Given the description of an element on the screen output the (x, y) to click on. 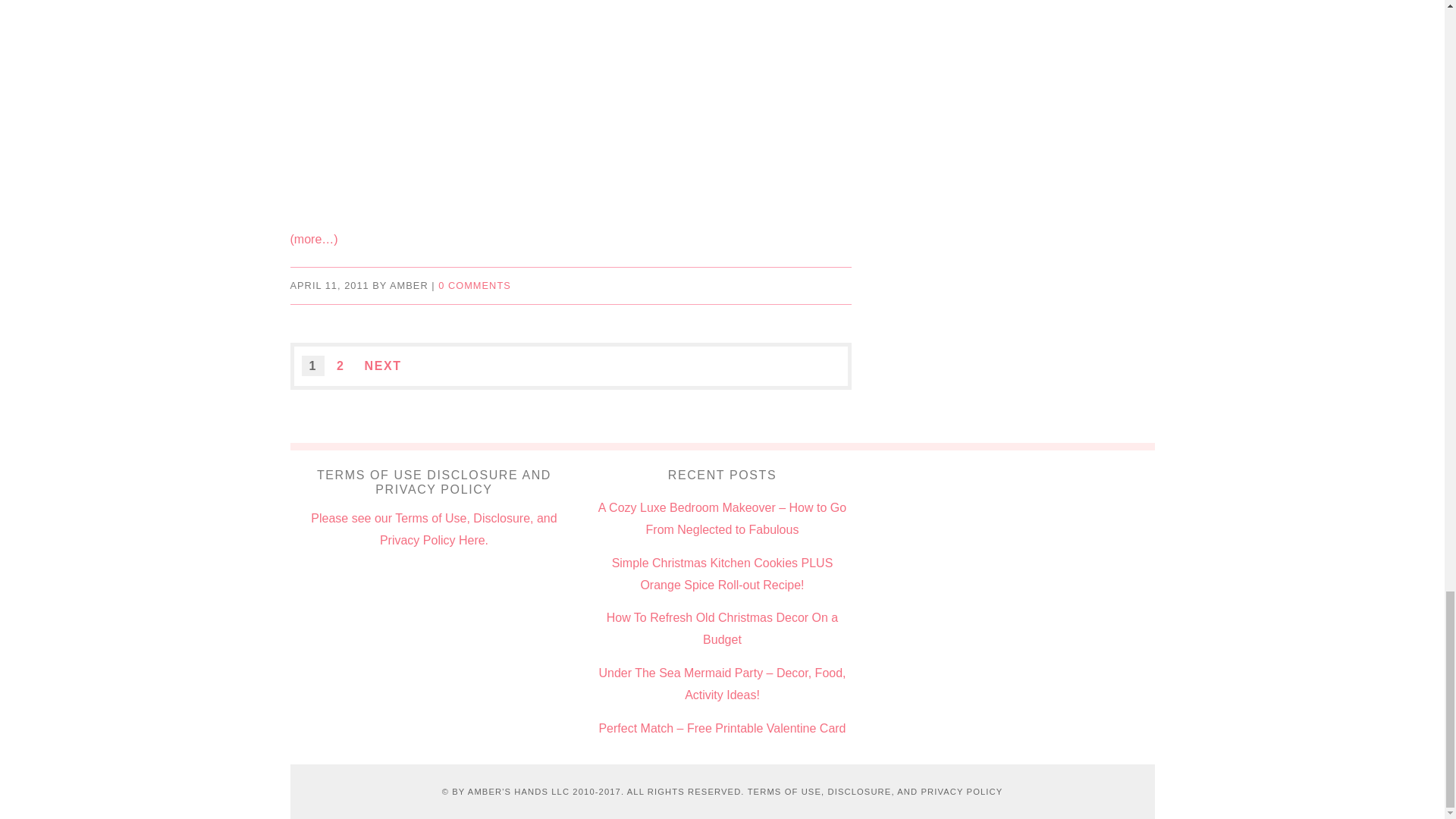
P1040125 (569, 110)
NEXT (382, 365)
2 (340, 365)
0 COMMENTS (474, 285)
